Given the description of an element on the screen output the (x, y) to click on. 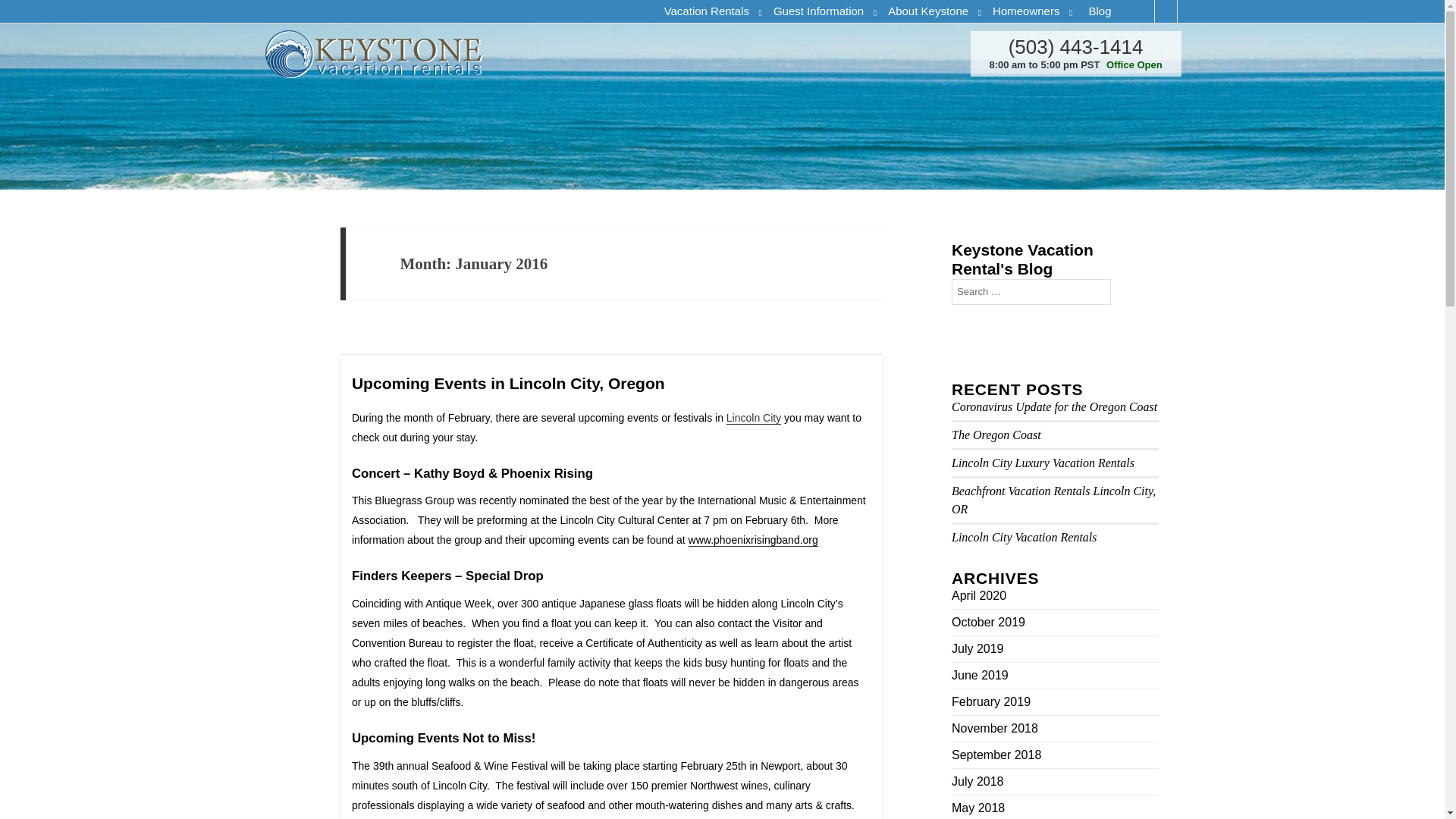
February 2019 (991, 701)
Facebook (1142, 11)
Blog (1098, 11)
Pinterest (1187, 11)
July 2019 (978, 648)
Keystone Vacation Rental's Blog (1022, 258)
October 2019 (988, 621)
June 2019 (980, 675)
September 2018 (996, 754)
Beachfront Vacation Rentals Lincoln City, OR (1054, 499)
About Keystone (932, 11)
Homeowners (1030, 11)
November 2018 (995, 728)
